Given the description of an element on the screen output the (x, y) to click on. 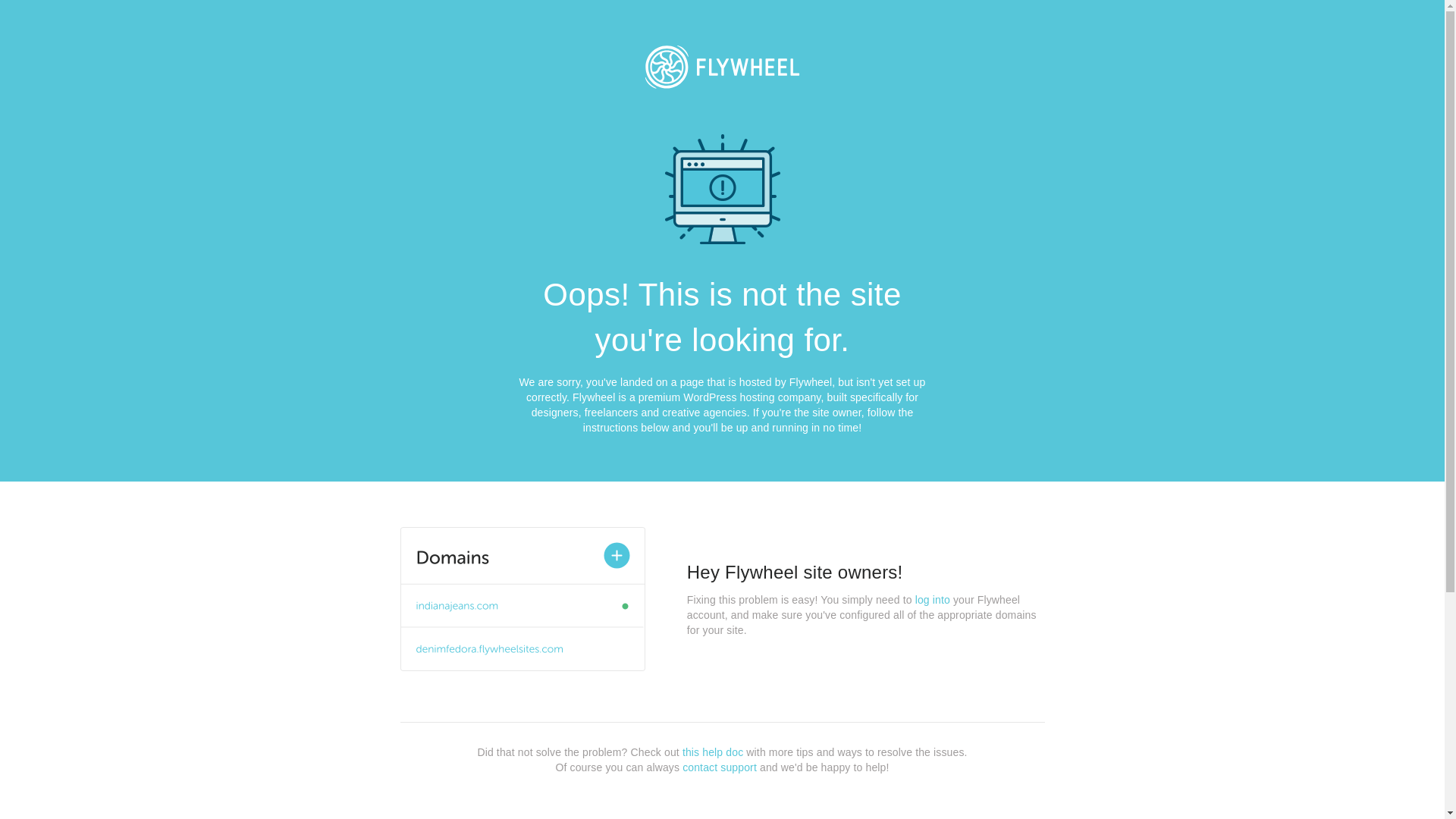
log into (932, 599)
this help doc (712, 752)
contact support (719, 767)
